Given the description of an element on the screen output the (x, y) to click on. 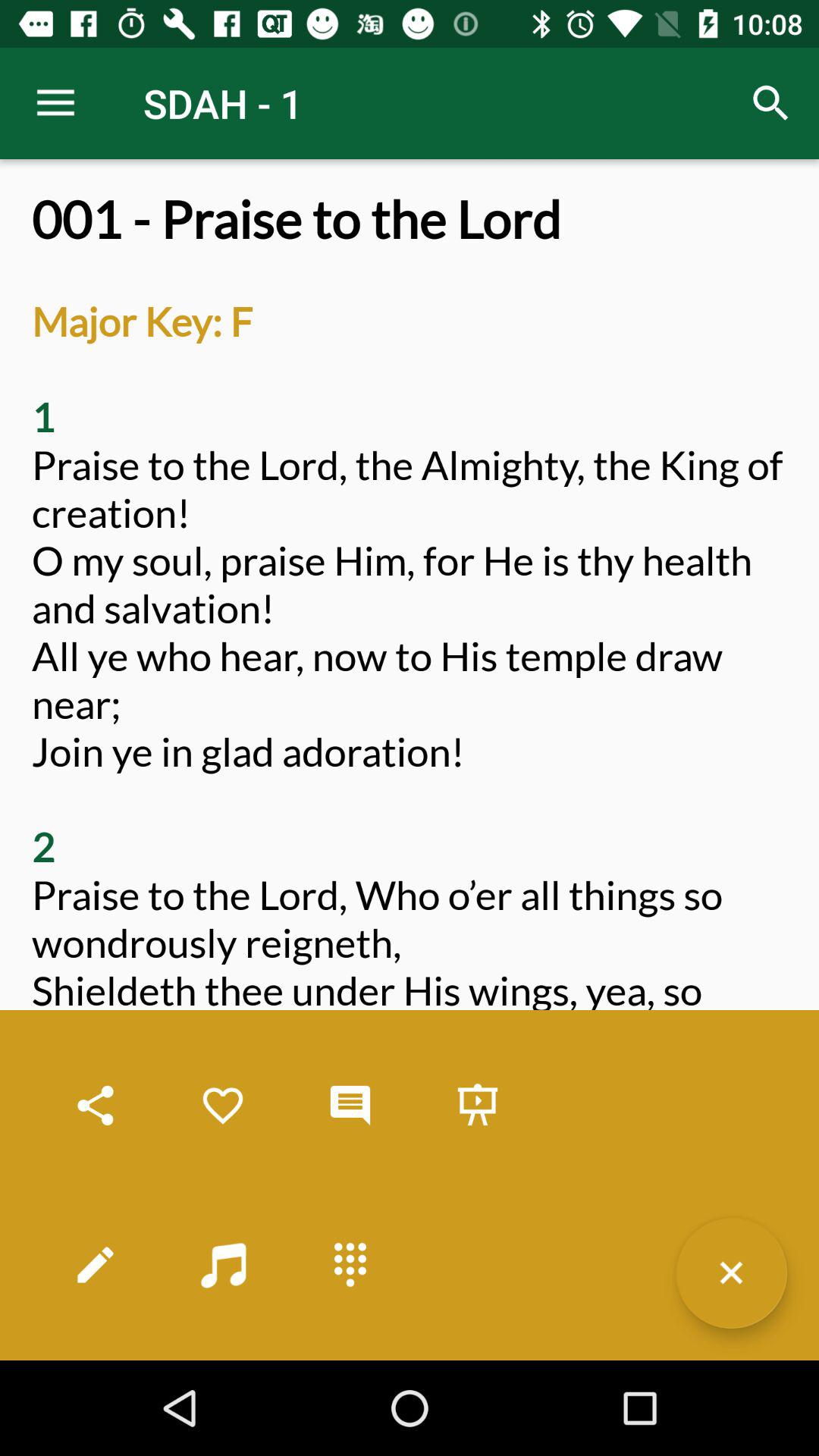
click edit image (95, 1264)
